Given the description of an element on the screen output the (x, y) to click on. 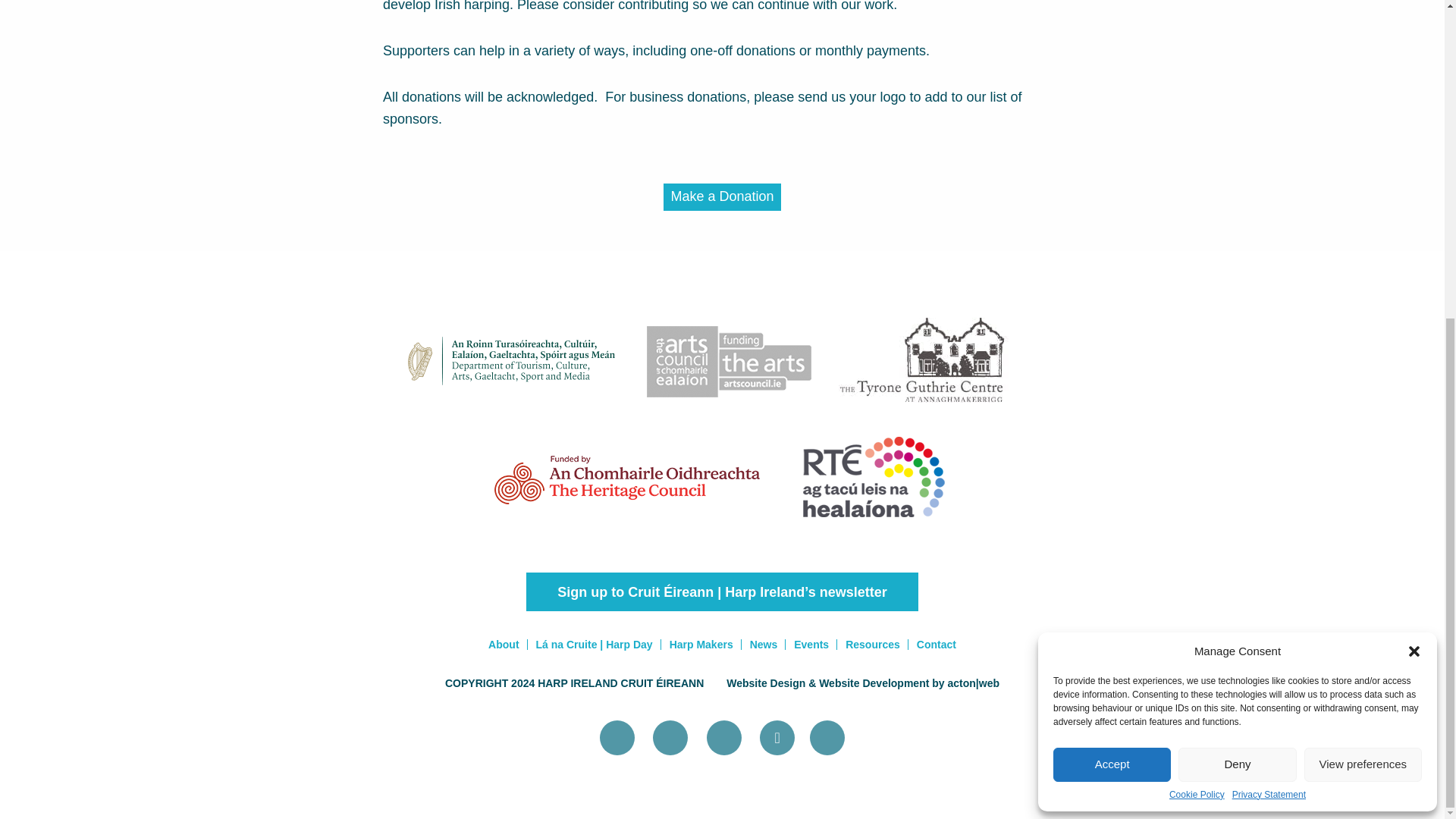
Deny (1236, 251)
Accept (1111, 251)
Cookie Policy (1196, 281)
Privacy Statement (1268, 281)
View preferences (1363, 251)
